Given the description of an element on the screen output the (x, y) to click on. 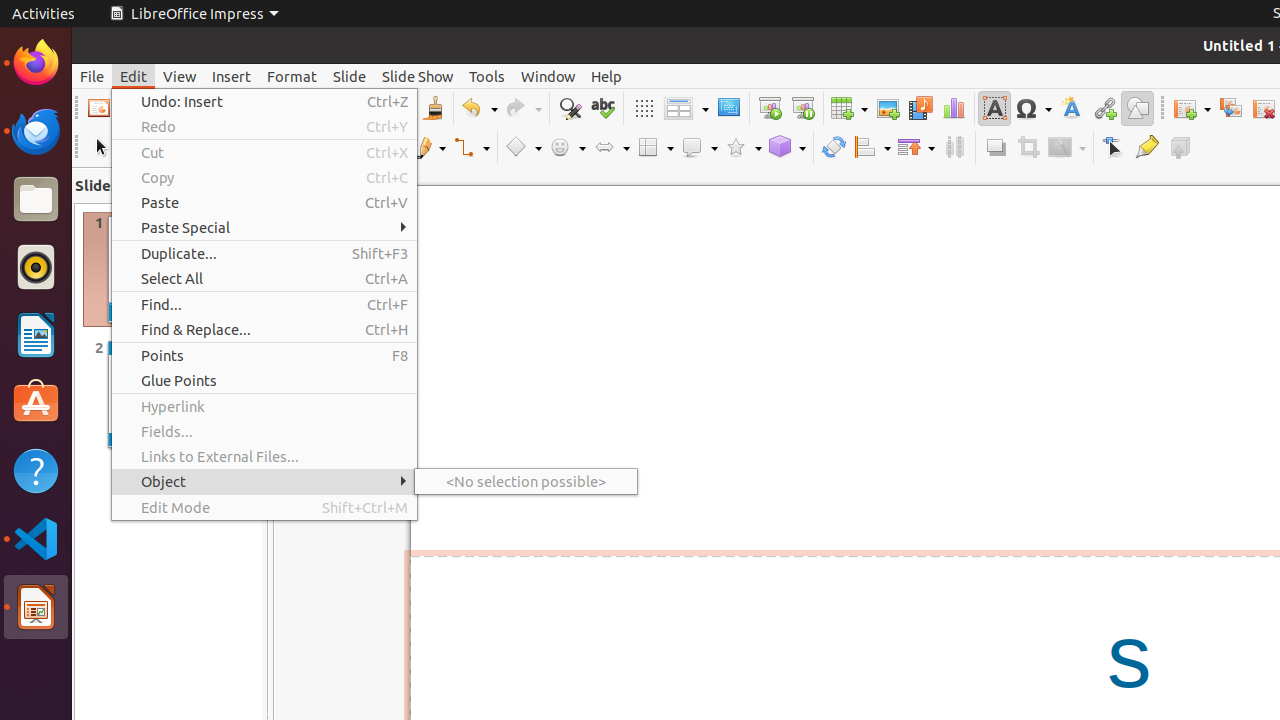
Slide Show Element type: menu (417, 76)
Window Element type: menu (548, 76)
Undo: Insert Element type: menu-item (264, 101)
LibreOffice Impress Element type: push-button (36, 607)
